Given the description of an element on the screen output the (x, y) to click on. 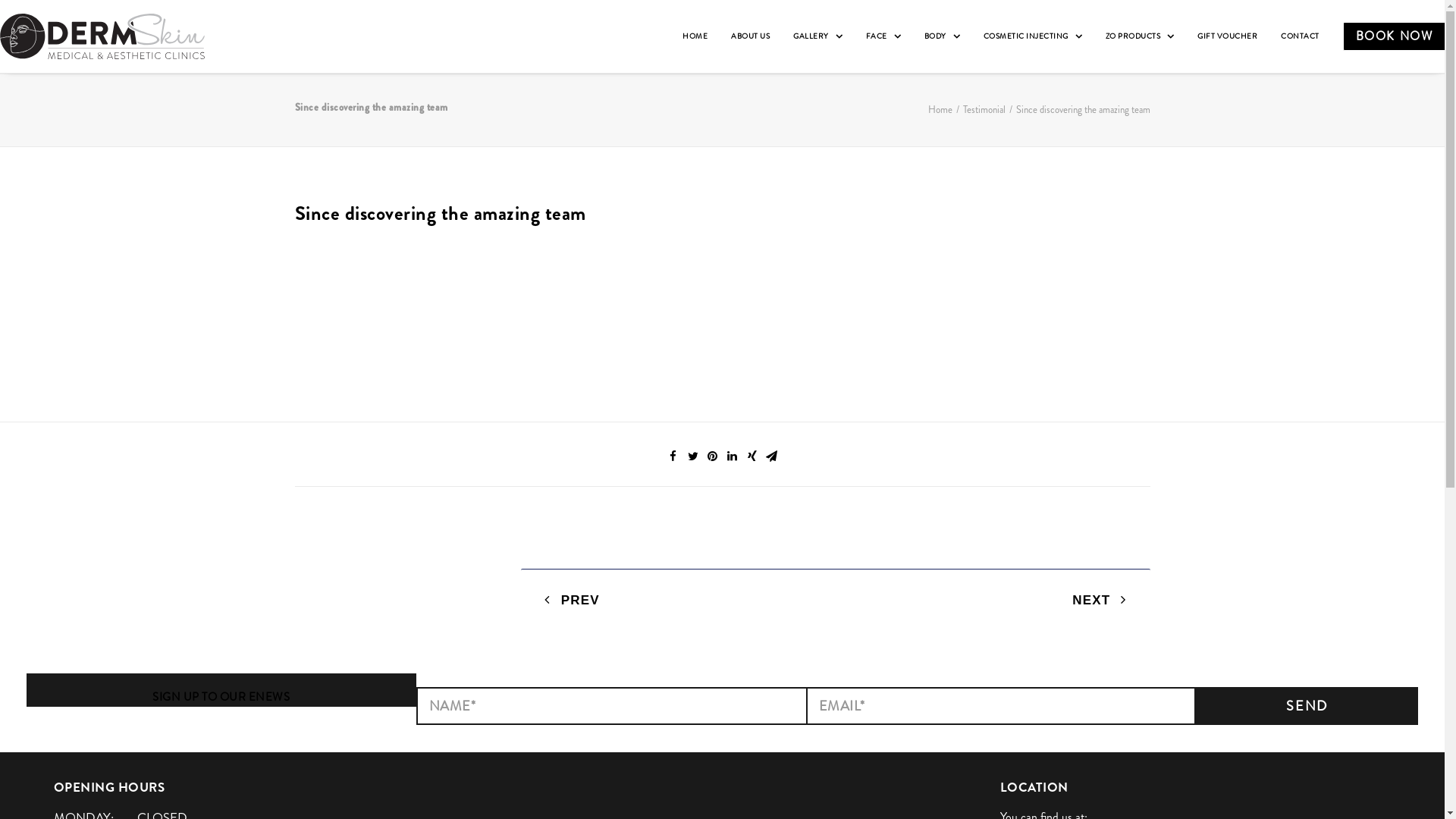
HOME Element type: text (694, 36)
NEXT Element type: text (1098, 599)
COSMETIC INJECTING Element type: text (1032, 36)
Testimonial Element type: text (984, 109)
Home Element type: text (940, 109)
ZO PRODUCTS Element type: text (1140, 36)
BOOK NOW Element type: text (1389, 35)
BODY Element type: text (941, 36)
CONTACT Element type: text (1300, 36)
PREV Element type: text (571, 599)
SEND Element type: text (1306, 705)
ABOUT US Element type: text (750, 36)
GIFT VOUCHER Element type: text (1226, 36)
FACE Element type: text (883, 36)
GALLERY Element type: text (817, 36)
